Given the description of an element on the screen output the (x, y) to click on. 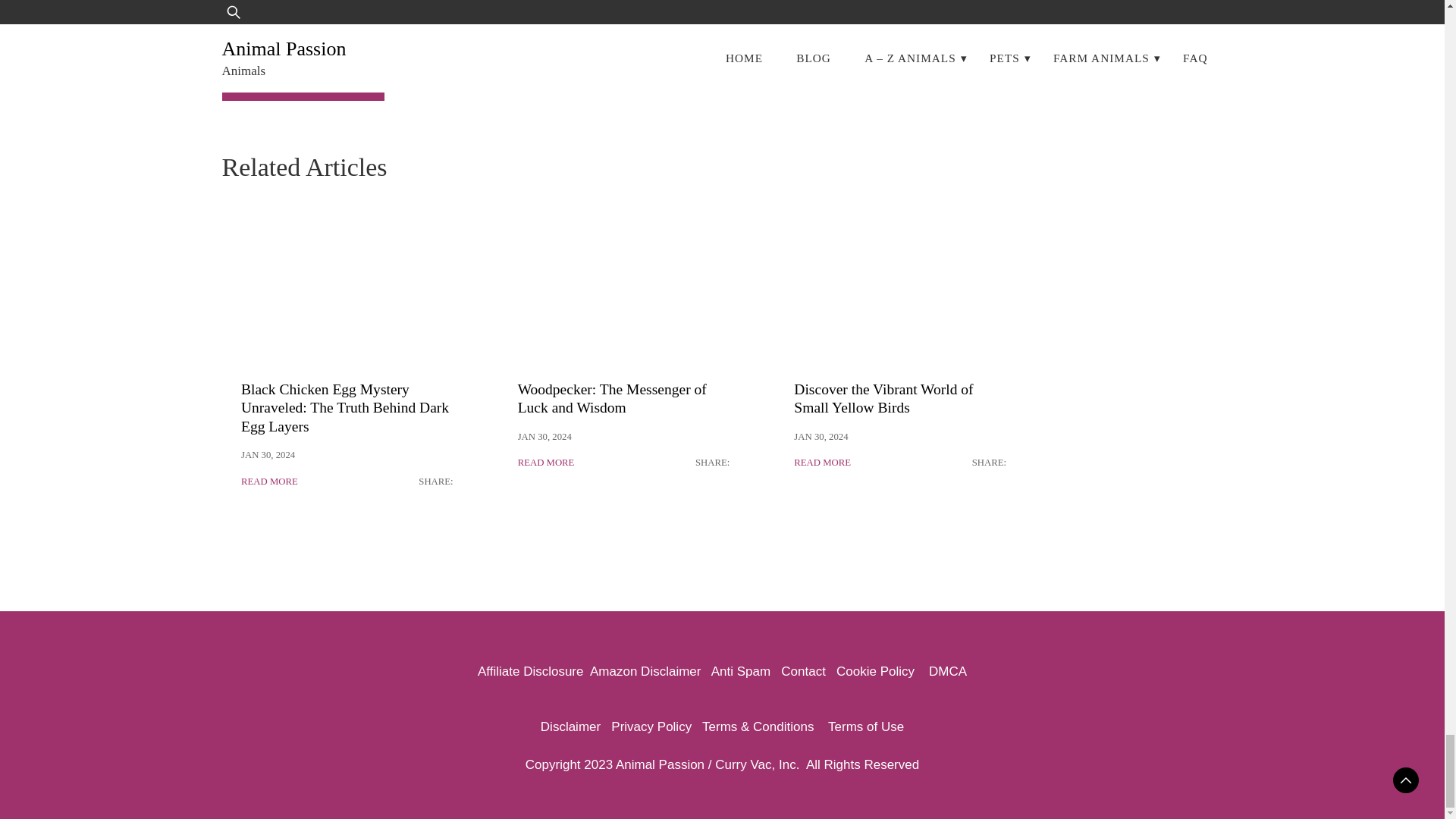
yes (226, 26)
Post Comment (302, 78)
